Given the description of an element on the screen output the (x, y) to click on. 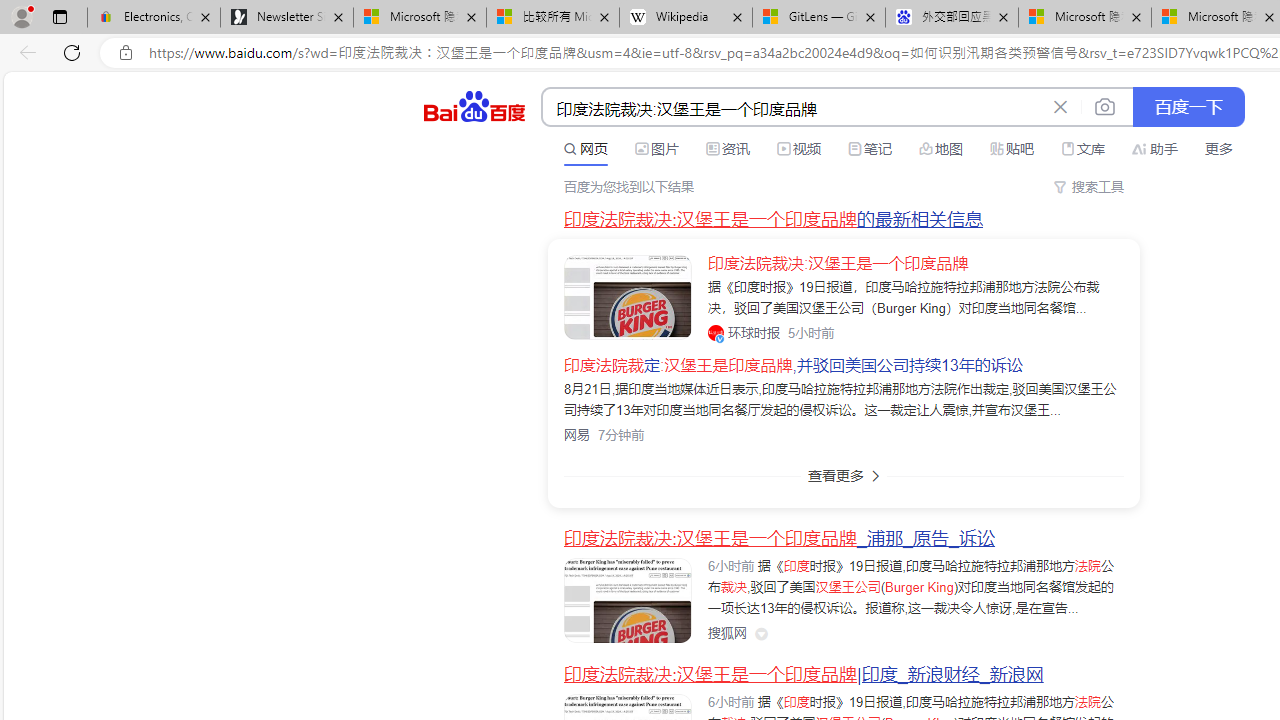
Class: siteLink_9TPP3 (727, 632)
Electronics, Cars, Fashion, Collectibles & More | eBay (154, 17)
